Given the description of an element on the screen output the (x, y) to click on. 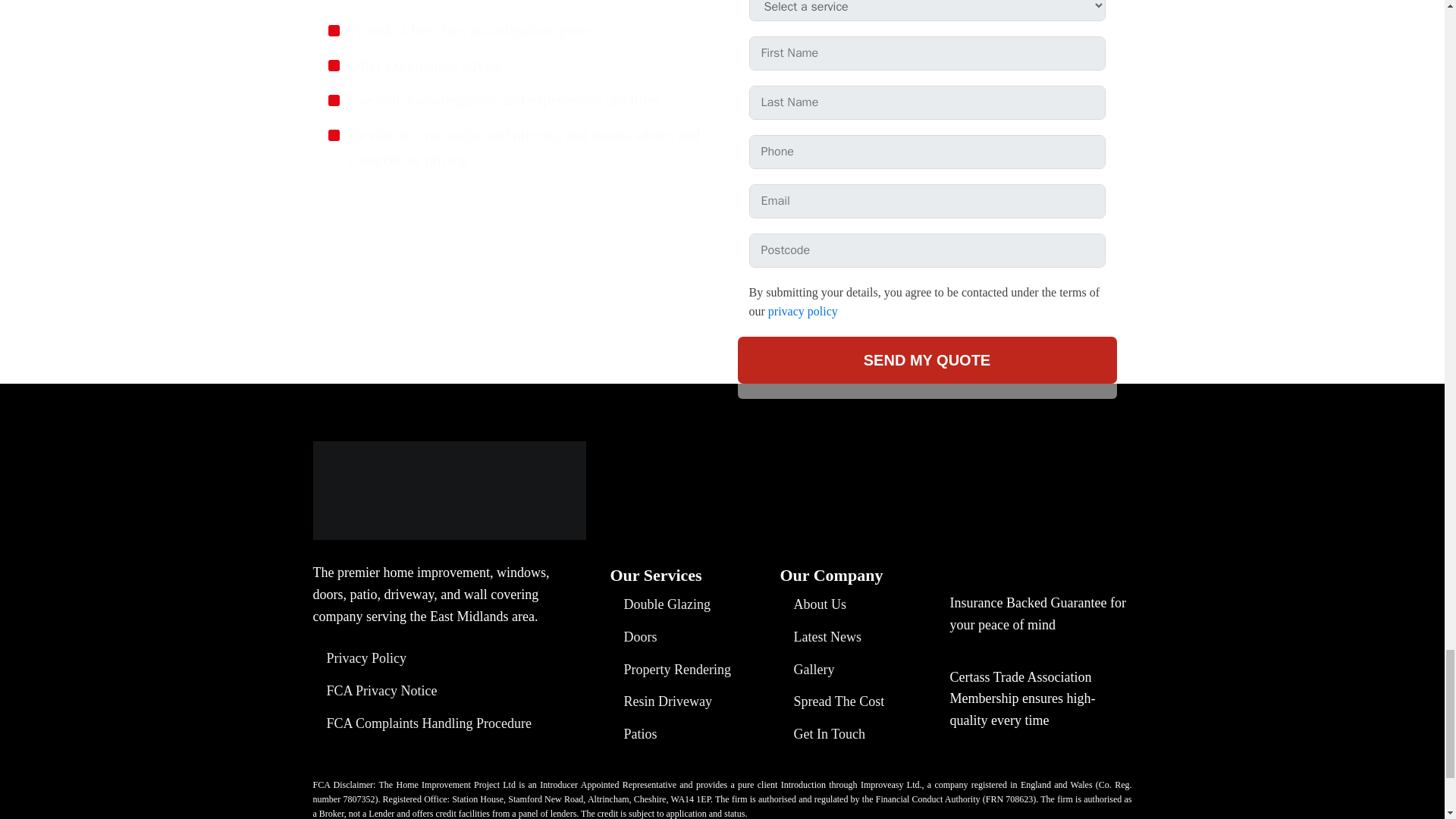
Doors (633, 636)
SEND MY QUOTE (926, 360)
FCA Privacy Notice (374, 690)
Property Rendering (670, 669)
privacy policy (803, 310)
FCA Complaints Handling Procedure (422, 723)
Resin Driveway (660, 701)
Double Glazing (660, 604)
Privacy Policy (359, 658)
